Given the description of an element on the screen output the (x, y) to click on. 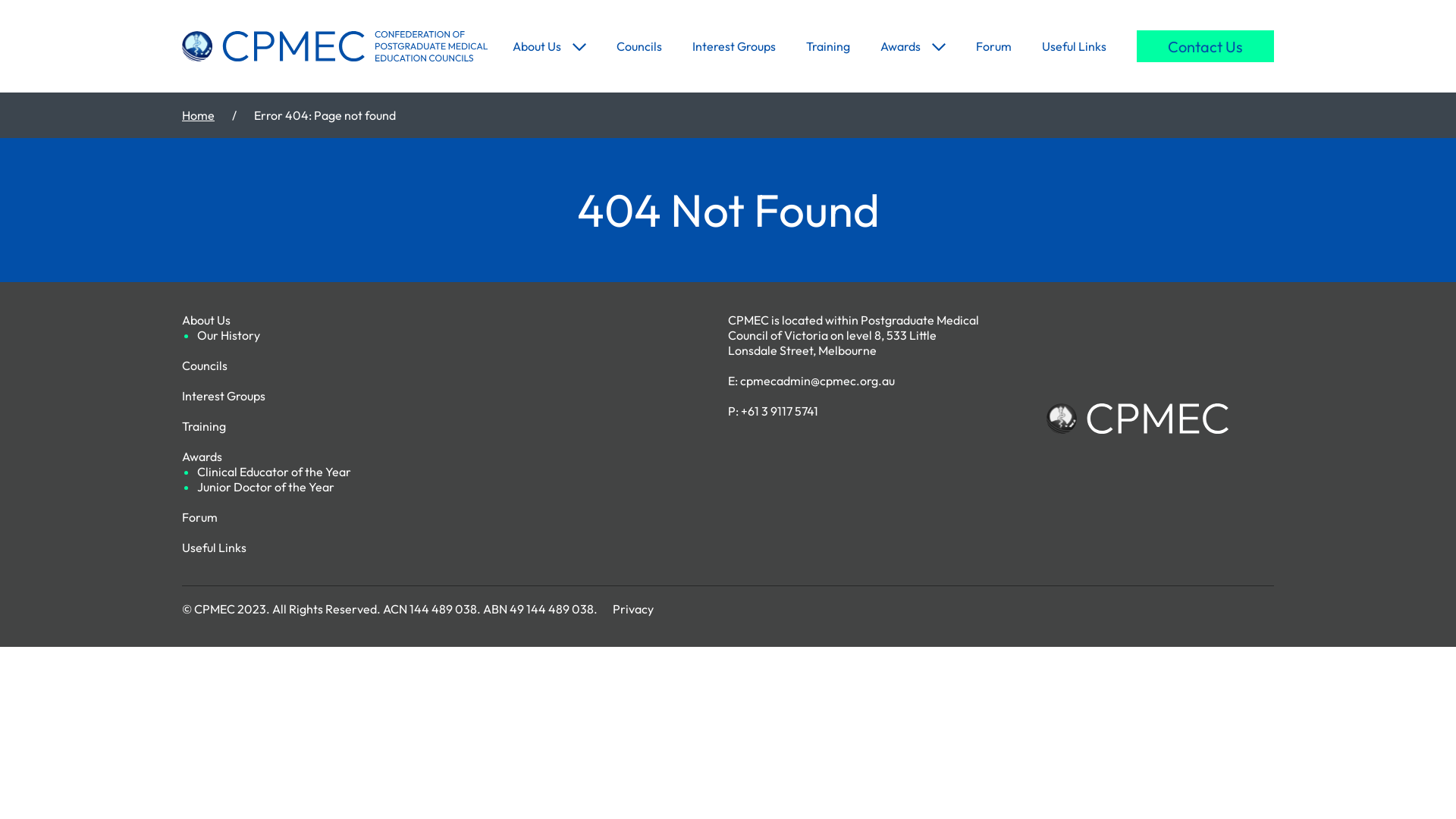
Interest Groups Element type: text (733, 45)
E: cpmecadmin@cpmec.org.au Element type: text (811, 380)
Our History Element type: text (228, 334)
About Us Element type: text (206, 319)
Forum Element type: text (993, 45)
Useful Links Element type: text (214, 547)
Councils Element type: text (639, 45)
P: +61 3 9117 5741 Element type: text (773, 410)
Councils Element type: text (204, 365)
Interest Groups Element type: text (223, 395)
Training Element type: text (828, 45)
Awards Element type: text (900, 45)
Clinical Educator of the Year Element type: text (274, 471)
Home Element type: text (198, 114)
Junior Doctor of the Year Element type: text (265, 486)
Contact Us Element type: text (1205, 46)
Awards Element type: text (202, 456)
Useful Links Element type: text (1073, 45)
Privacy Element type: text (632, 608)
About Us Element type: text (536, 45)
Forum Element type: text (199, 516)
Training Element type: text (203, 425)
